Given the description of an element on the screen output the (x, y) to click on. 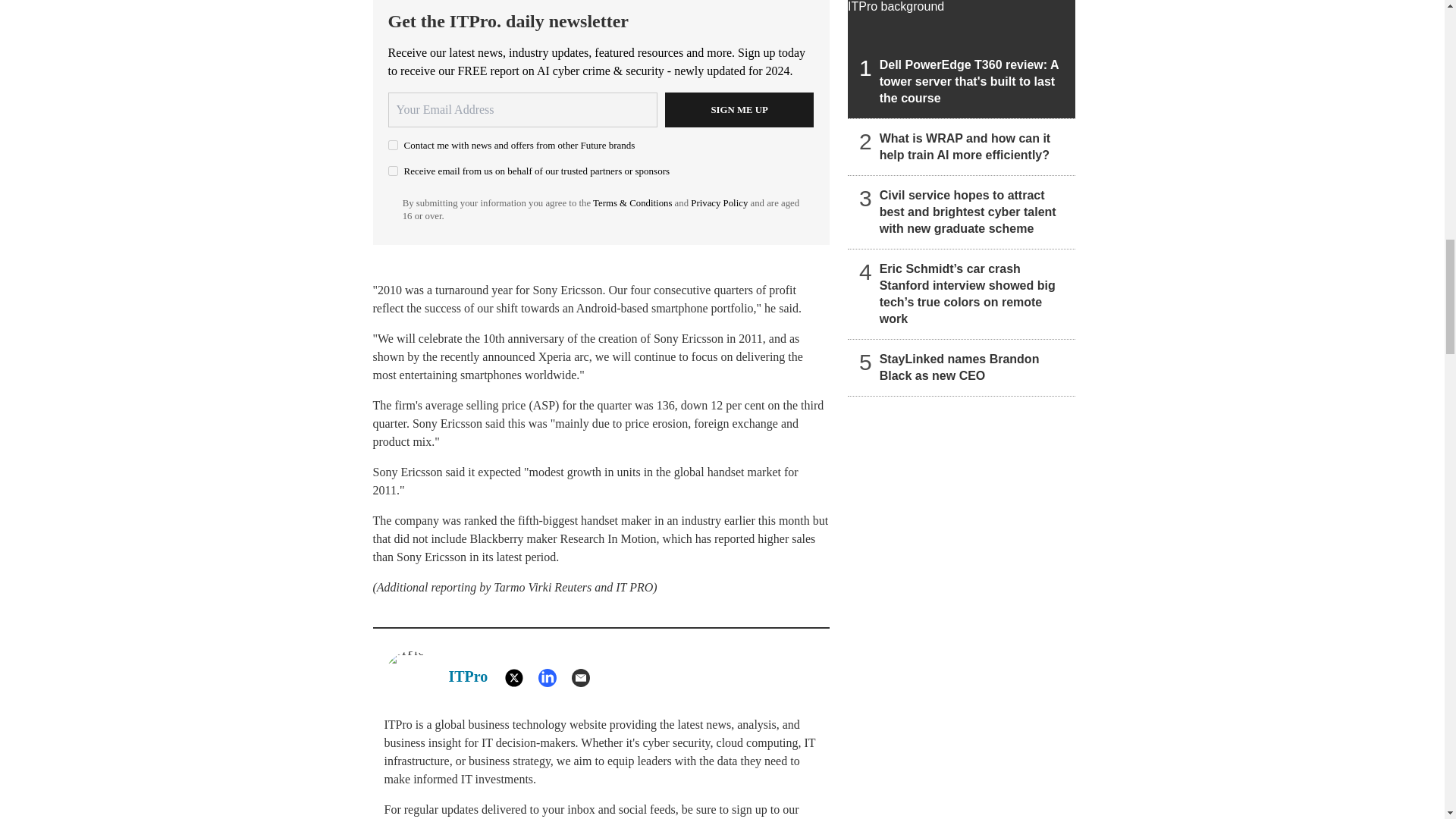
on (392, 171)
Sign me up (739, 109)
on (392, 144)
